Given the description of an element on the screen output the (x, y) to click on. 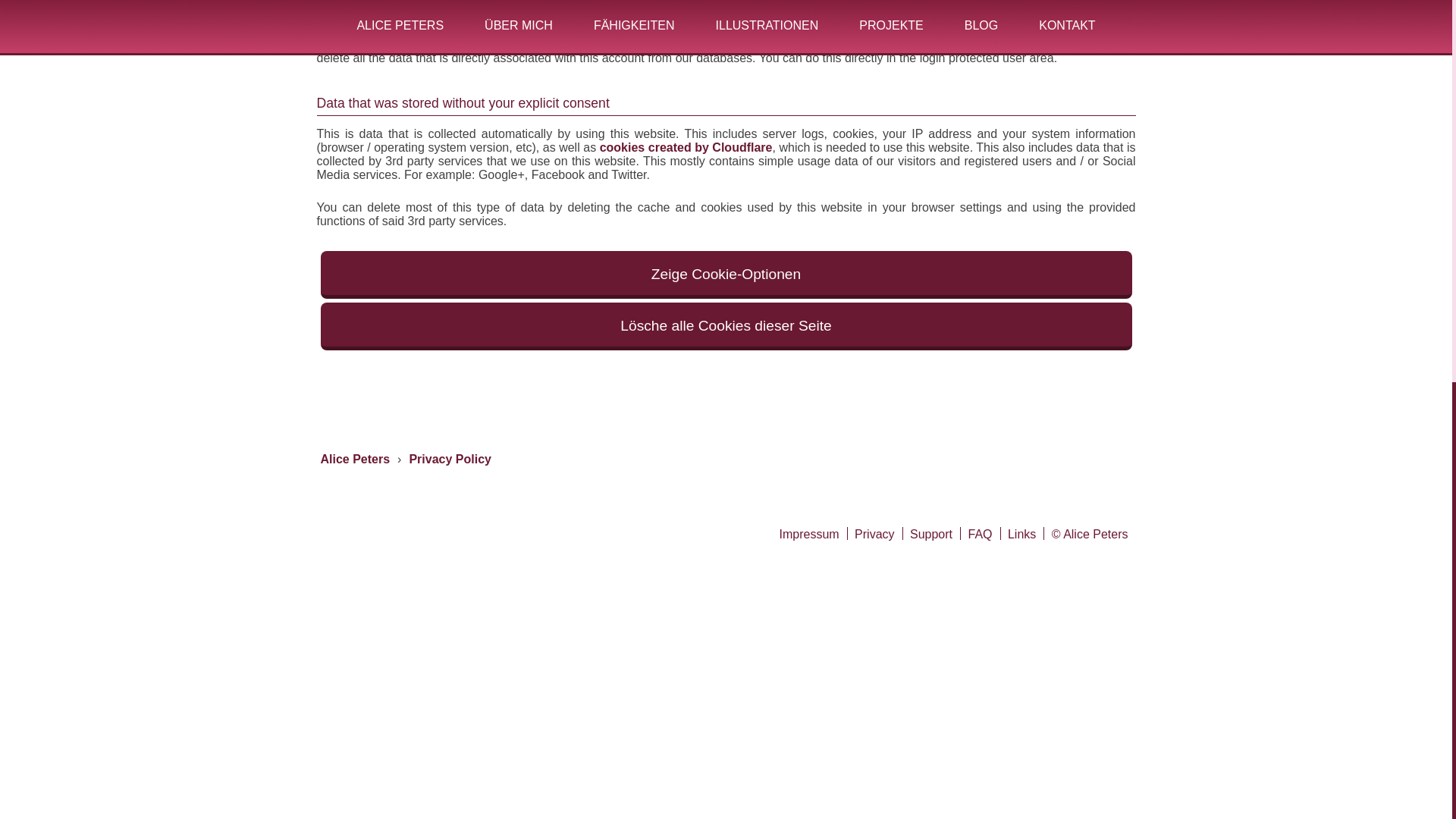
Support (931, 533)
FAQ (979, 533)
Zeige Cookie-Optionen (725, 274)
Privacy (873, 533)
Alice Peters (355, 459)
Alice Peters (355, 459)
Impressum (809, 533)
cookies created by Cloudflare (686, 146)
Links (1021, 533)
Privacy Policy (450, 459)
Privacy Policy (450, 459)
